Given the description of an element on the screen output the (x, y) to click on. 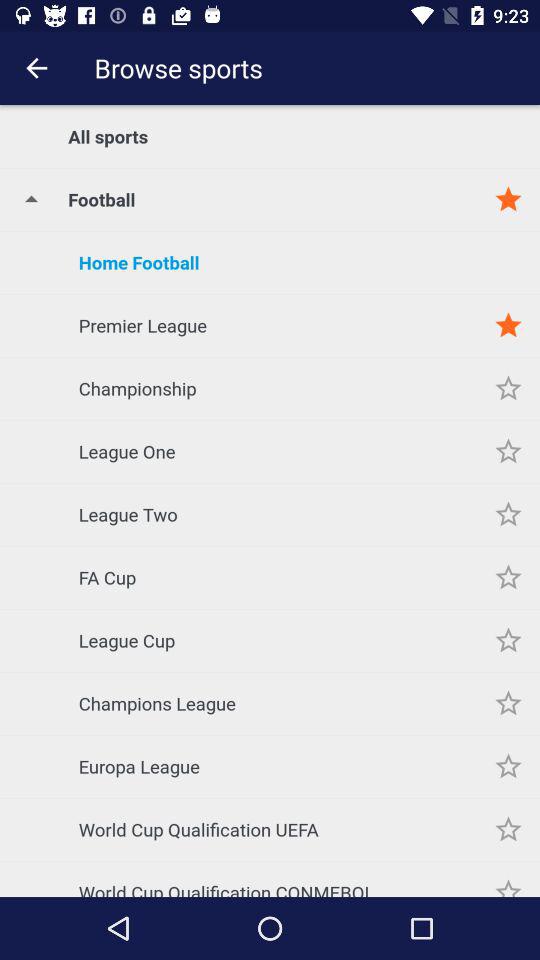
favorite this (508, 514)
